Given the description of an element on the screen output the (x, y) to click on. 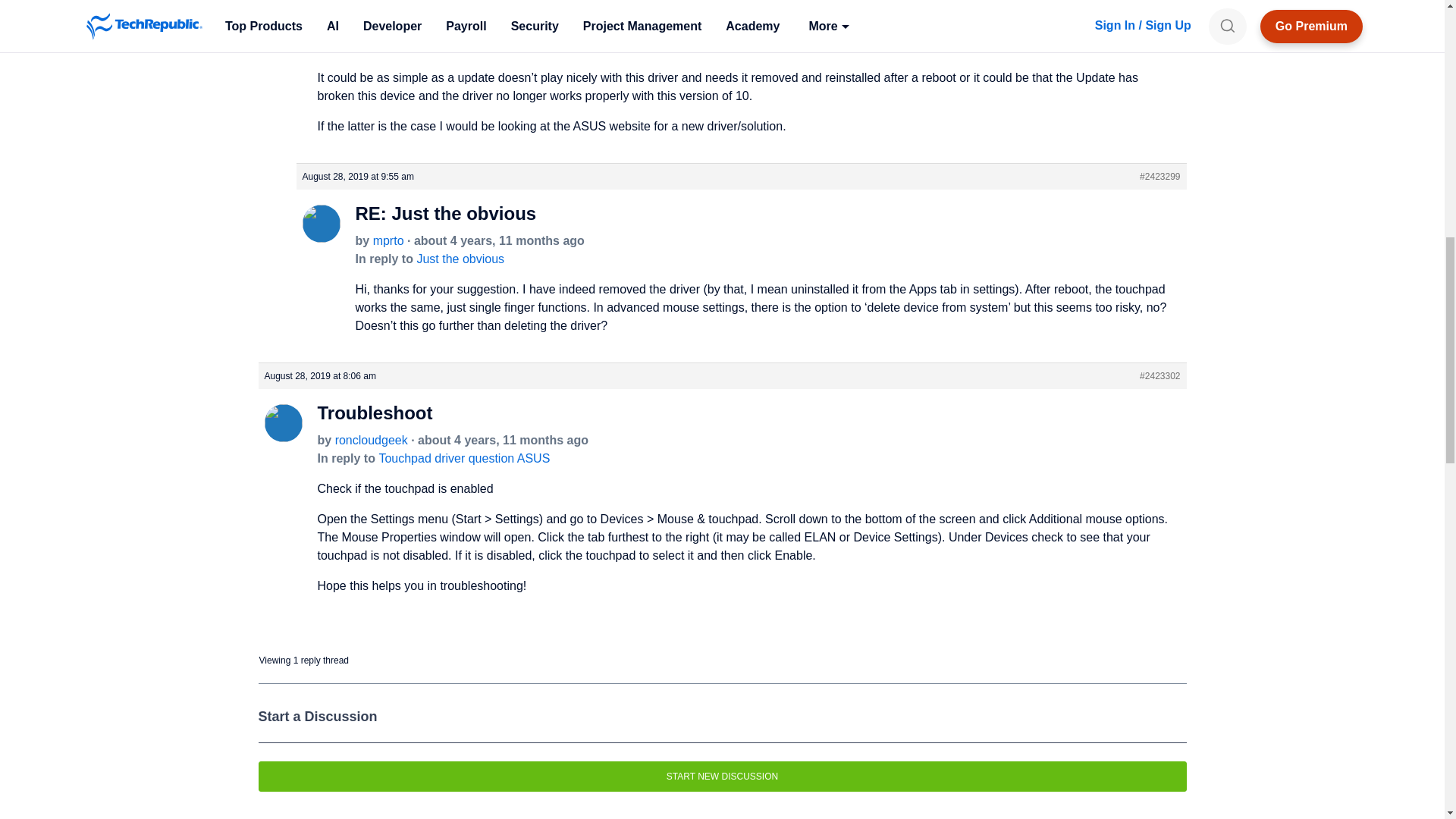
View mprto's profile (388, 240)
View roncloudgeek's profile (370, 440)
View mprto's profile (320, 235)
View roncloudgeek's profile (282, 434)
